Given the description of an element on the screen output the (x, y) to click on. 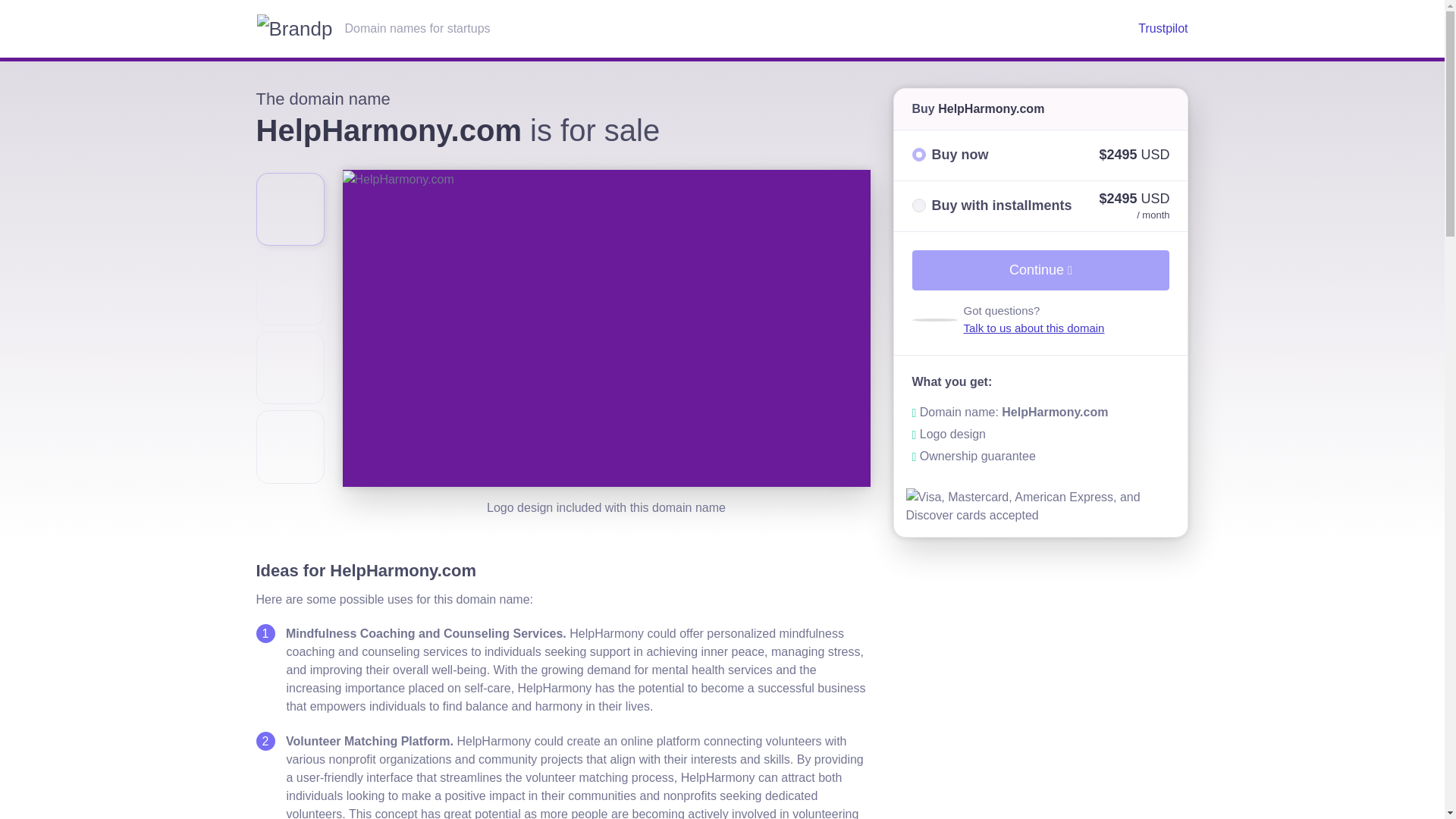
installments (917, 205)
Trustpilot (1163, 28)
Talk to us about this domain (1032, 327)
Continue (1040, 270)
Domain names for startups (687, 28)
HelpHarmony.com (990, 108)
buy (917, 154)
